Given the description of an element on the screen output the (x, y) to click on. 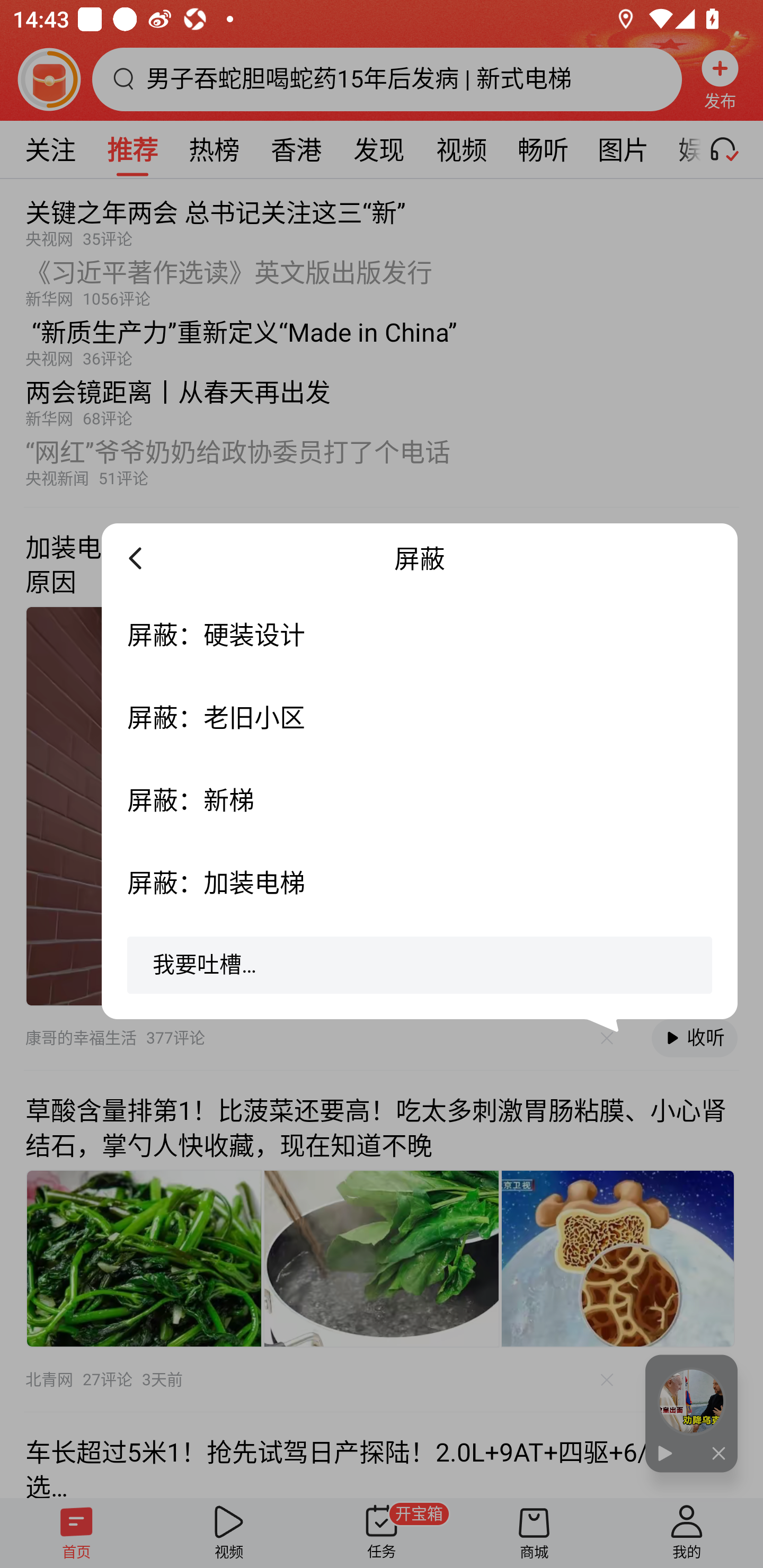
屏蔽：硬装设计 (419, 633)
屏蔽：老旧小区 (419, 716)
屏蔽：新梯 (419, 799)
屏蔽：加装电梯 (419, 881)
我要吐槽… (419, 971)
